Given the description of an element on the screen output the (x, y) to click on. 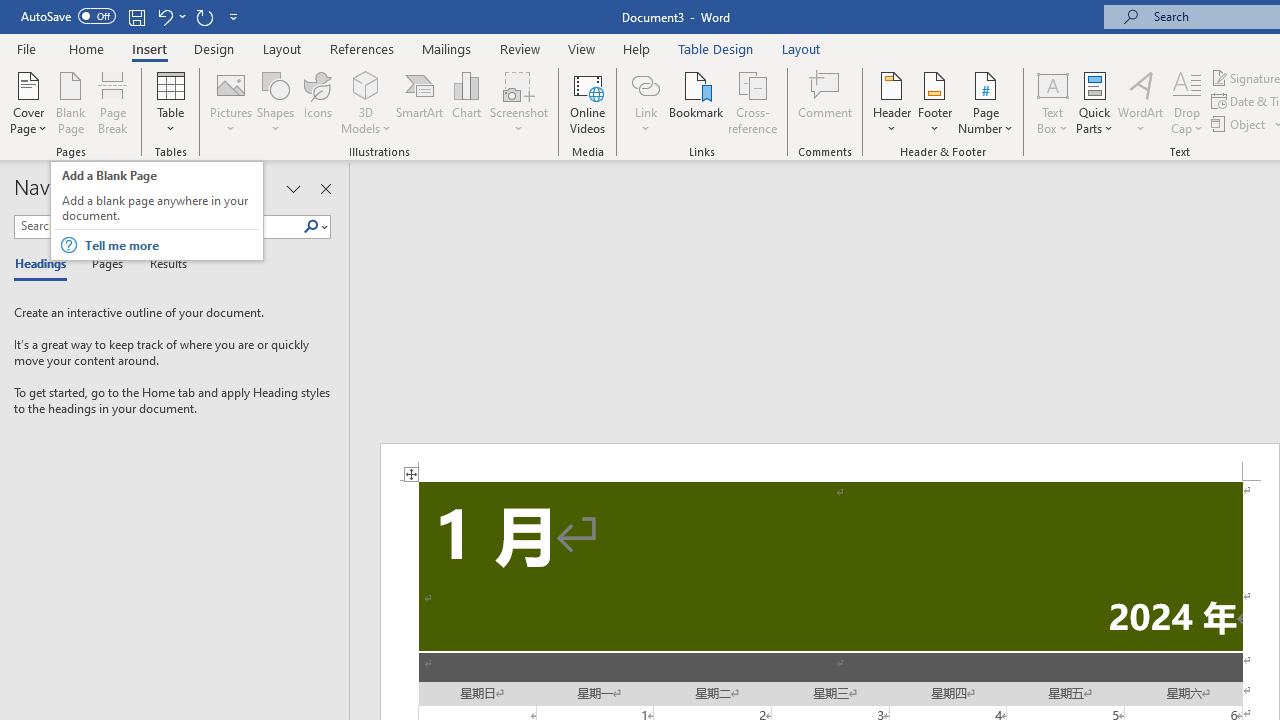
Tell me more (170, 245)
Page Number (986, 102)
Screenshot (518, 102)
Icons (317, 102)
Drop Cap (1187, 102)
Undo Increase Indent (170, 15)
Repeat Doc Close (204, 15)
Undo Increase Indent (164, 15)
Table (170, 102)
